Given the description of an element on the screen output the (x, y) to click on. 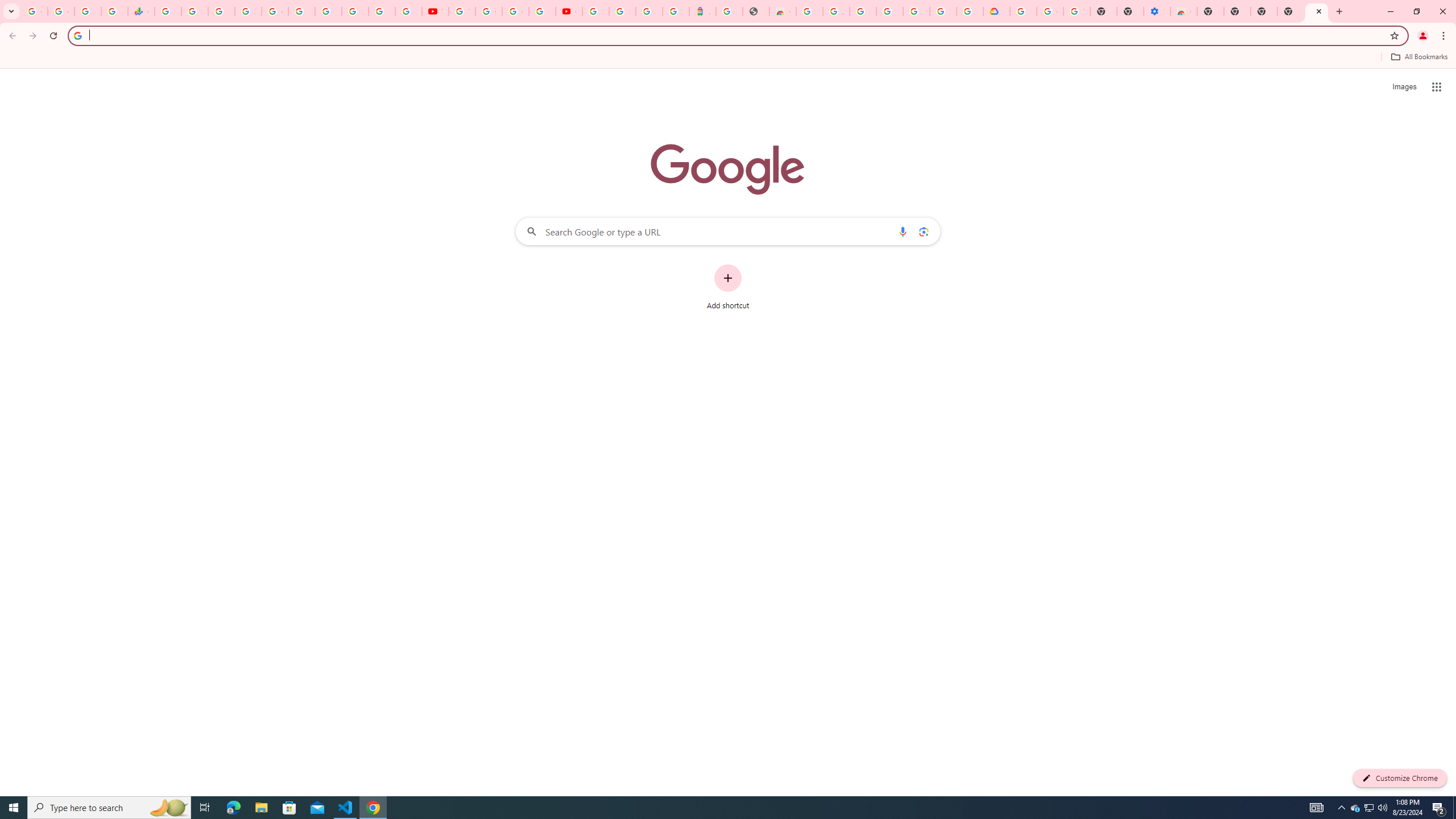
Atour Hotel - Google hotels (702, 11)
New Tab (1316, 11)
YouTube (435, 11)
Sign in - Google Accounts (622, 11)
